Given the description of an element on the screen output the (x, y) to click on. 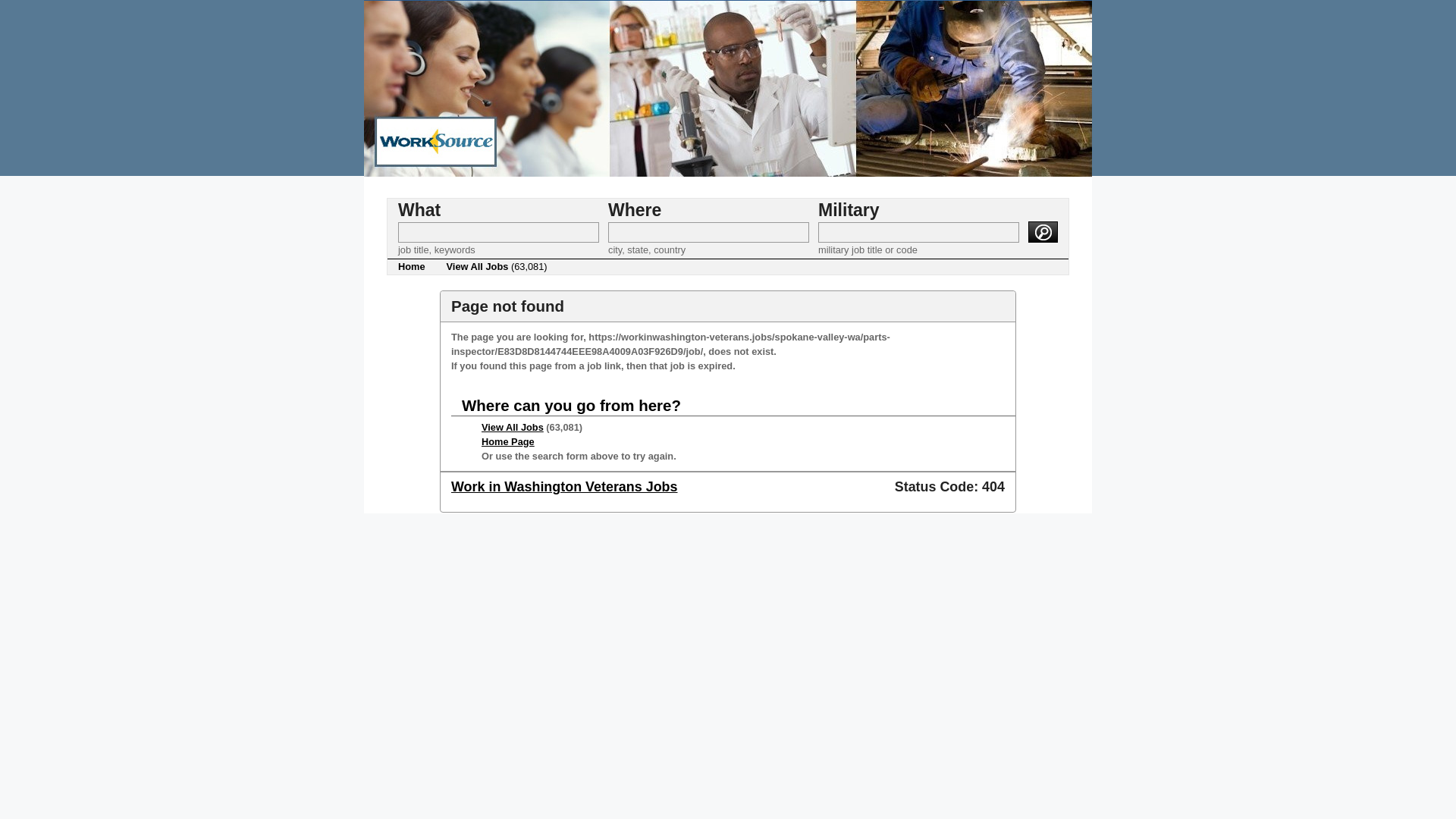
Work in Washington Veterans Jobs (564, 486)
Submit Search (1042, 231)
Search Phrase (497, 231)
Search Location (708, 231)
Home (411, 266)
search (1042, 231)
Home Page (507, 441)
View All Jobs (512, 427)
Search MOC (918, 231)
search (1042, 231)
